Given the description of an element on the screen output the (x, y) to click on. 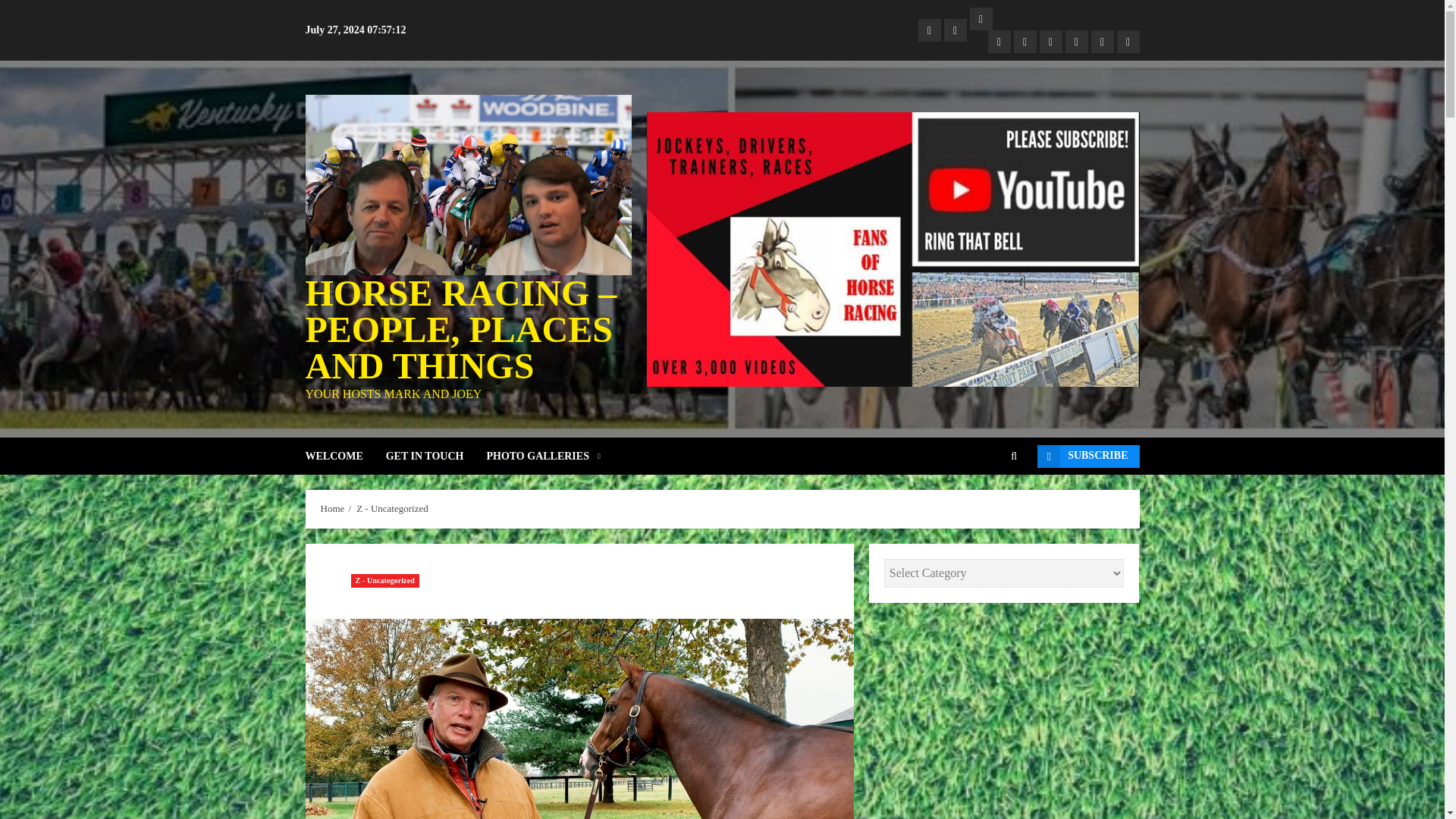
GET IN TOUCH (435, 456)
Search (990, 501)
Z - Uncategorized (384, 581)
Z - Uncategorized (392, 508)
Home (331, 508)
SUBSCRIBE (1087, 456)
WELCOME (344, 456)
PHOTO GALLERIES (542, 456)
